Given the description of an element on the screen output the (x, y) to click on. 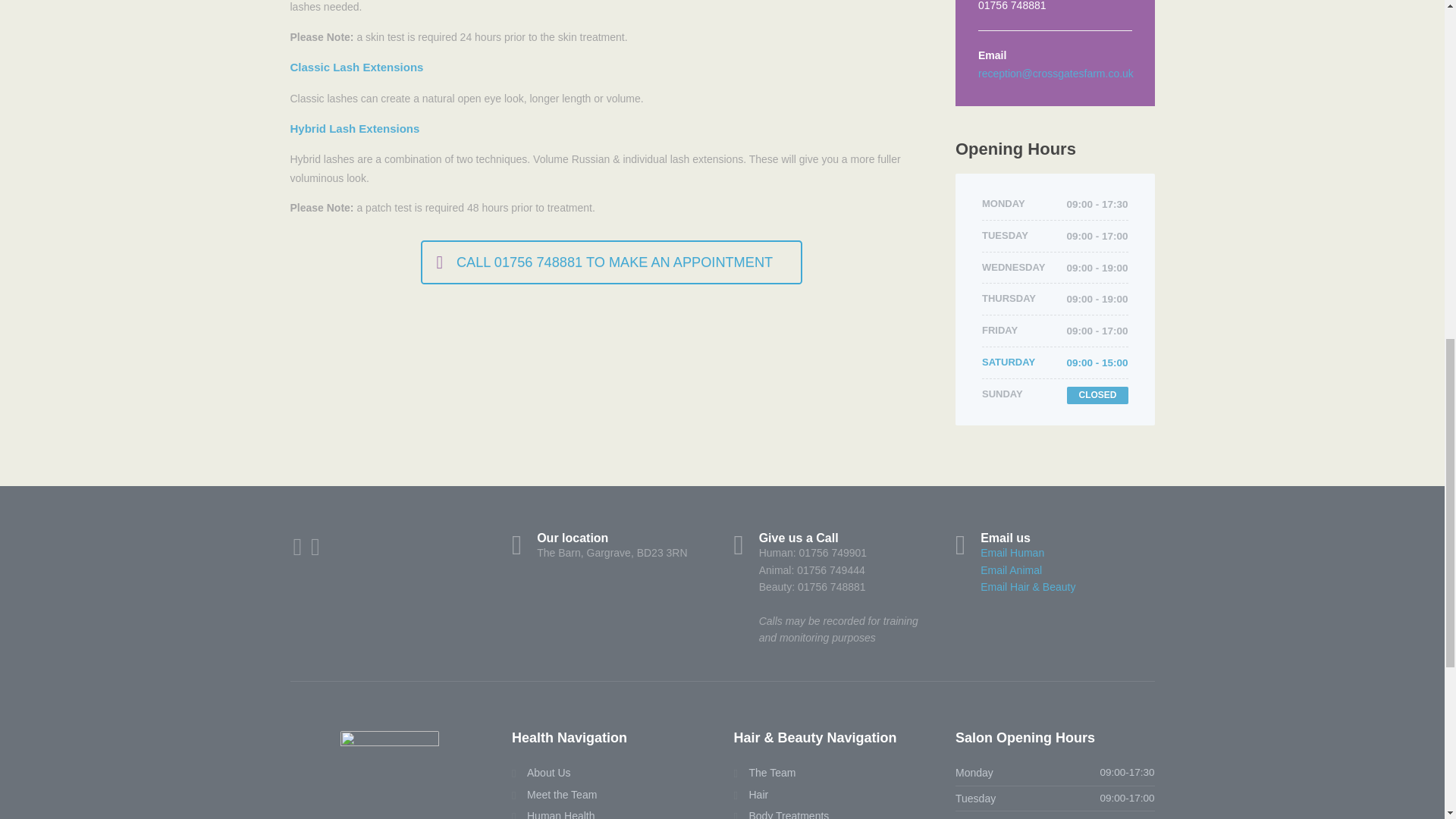
Human Health (553, 813)
Meet the Team (554, 794)
Email Human (1011, 552)
CALL 01756 748881 TO MAKE AN APPOINTMENT (611, 262)
Email Animal (1010, 570)
About Us (541, 772)
